Given the description of an element on the screen output the (x, y) to click on. 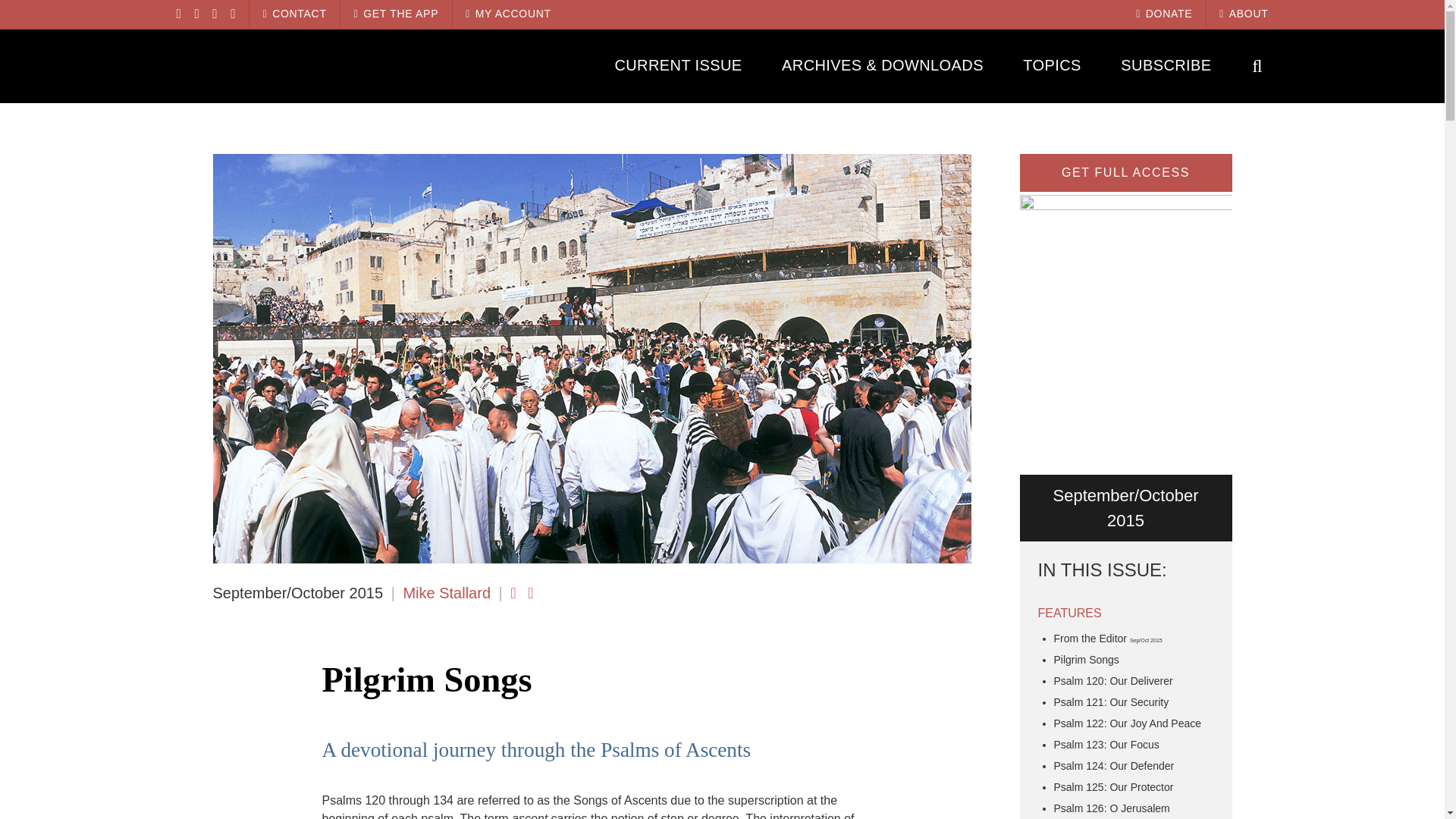
Pilgrim Songs (1086, 659)
DONATE (1163, 13)
GET FULL ACCESS (1125, 172)
TOPICS (1052, 65)
MY ACCOUNT (508, 13)
Mike Stallard (446, 592)
GET THE APP (396, 13)
Israel My Glory (309, 65)
CONTACT (294, 13)
SUBSCRIBE (1166, 65)
CURRENT ISSUE (677, 65)
ABOUT (1244, 13)
